Given the description of an element on the screen output the (x, y) to click on. 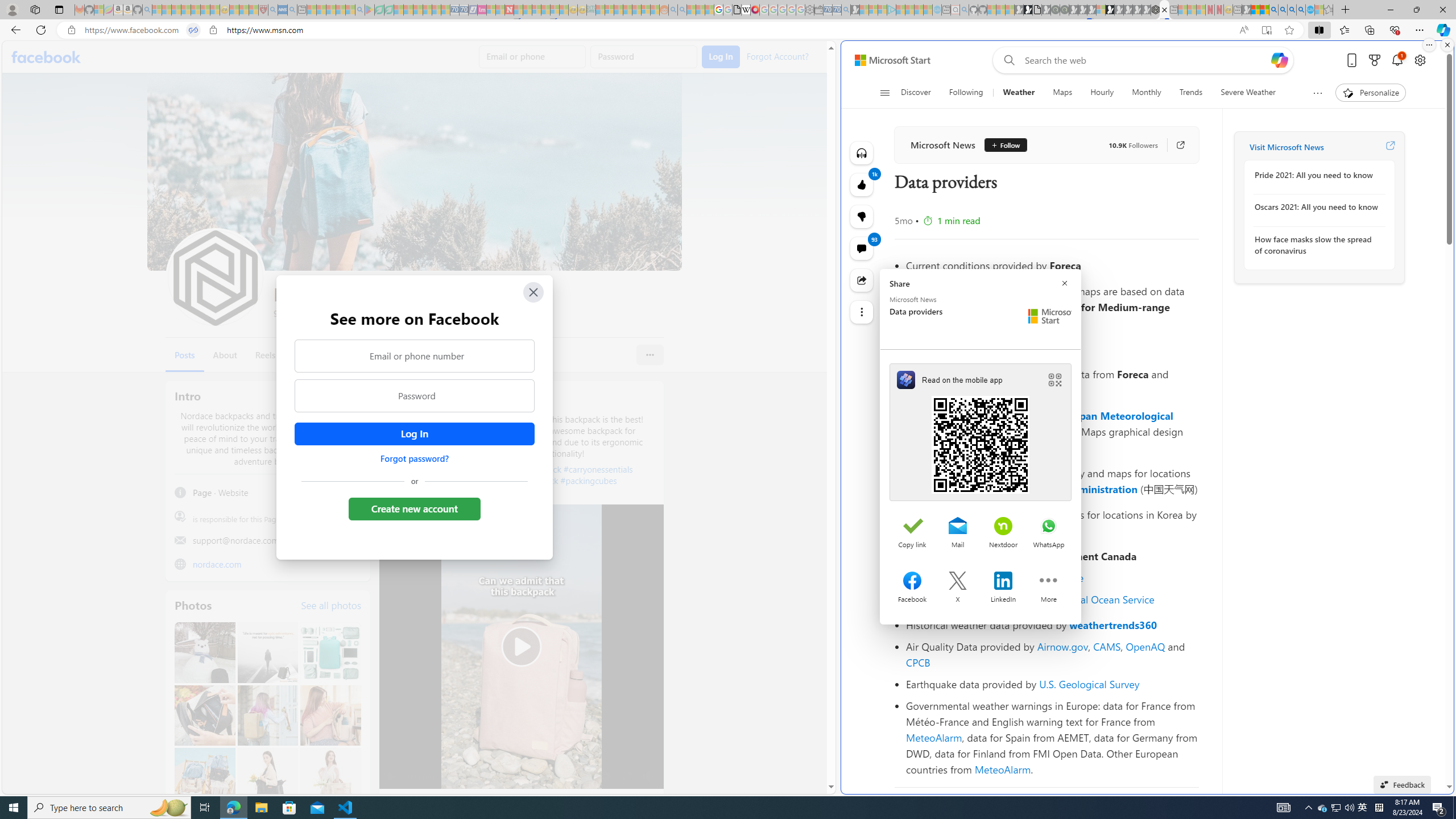
Home | Sky Blue Bikes - Sky Blue Bikes - Sleeping (936, 9)
Listen to this article (861, 152)
google - Search - Sleeping (359, 9)
The Weather Channel - MSN - Sleeping (175, 9)
MeteoAlarm (1002, 769)
Other map data provided by Foreca (1051, 348)
Enter your search term (1146, 59)
Jobs - lastminute.com Investor Portal - Sleeping (482, 9)
Local - MSN - Sleeping (253, 9)
DITOGAMES AG Imprint - Sleeping (590, 9)
